Given the description of an element on the screen output the (x, y) to click on. 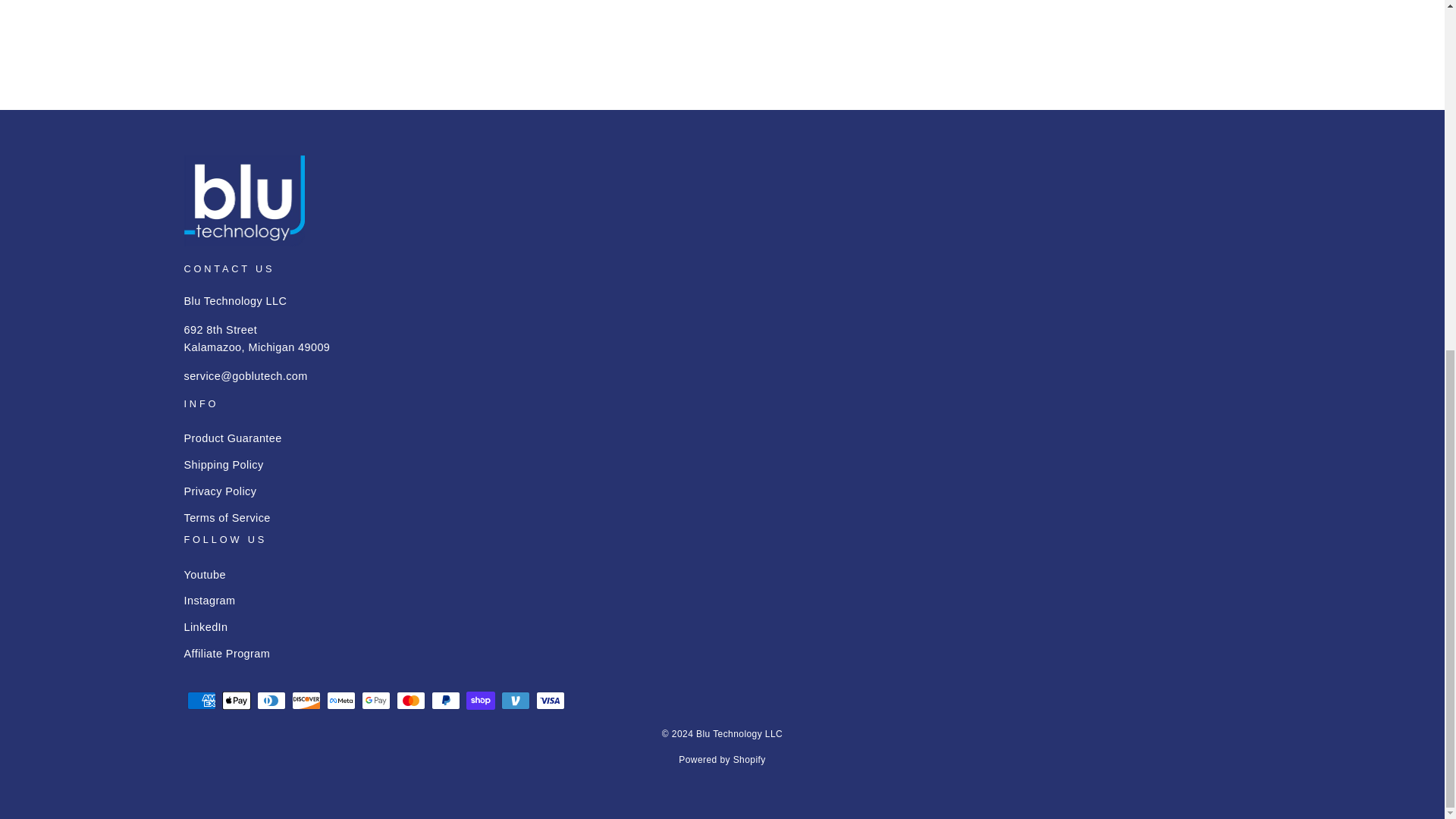
Venmo (514, 700)
Meta Pay (340, 700)
Shop Pay (480, 700)
PayPal (445, 700)
Diners Club (270, 700)
American Express (200, 700)
Apple Pay (235, 700)
Mastercard (410, 700)
Google Pay (375, 700)
Visa (549, 700)
Discover (305, 700)
